Given the description of an element on the screen output the (x, y) to click on. 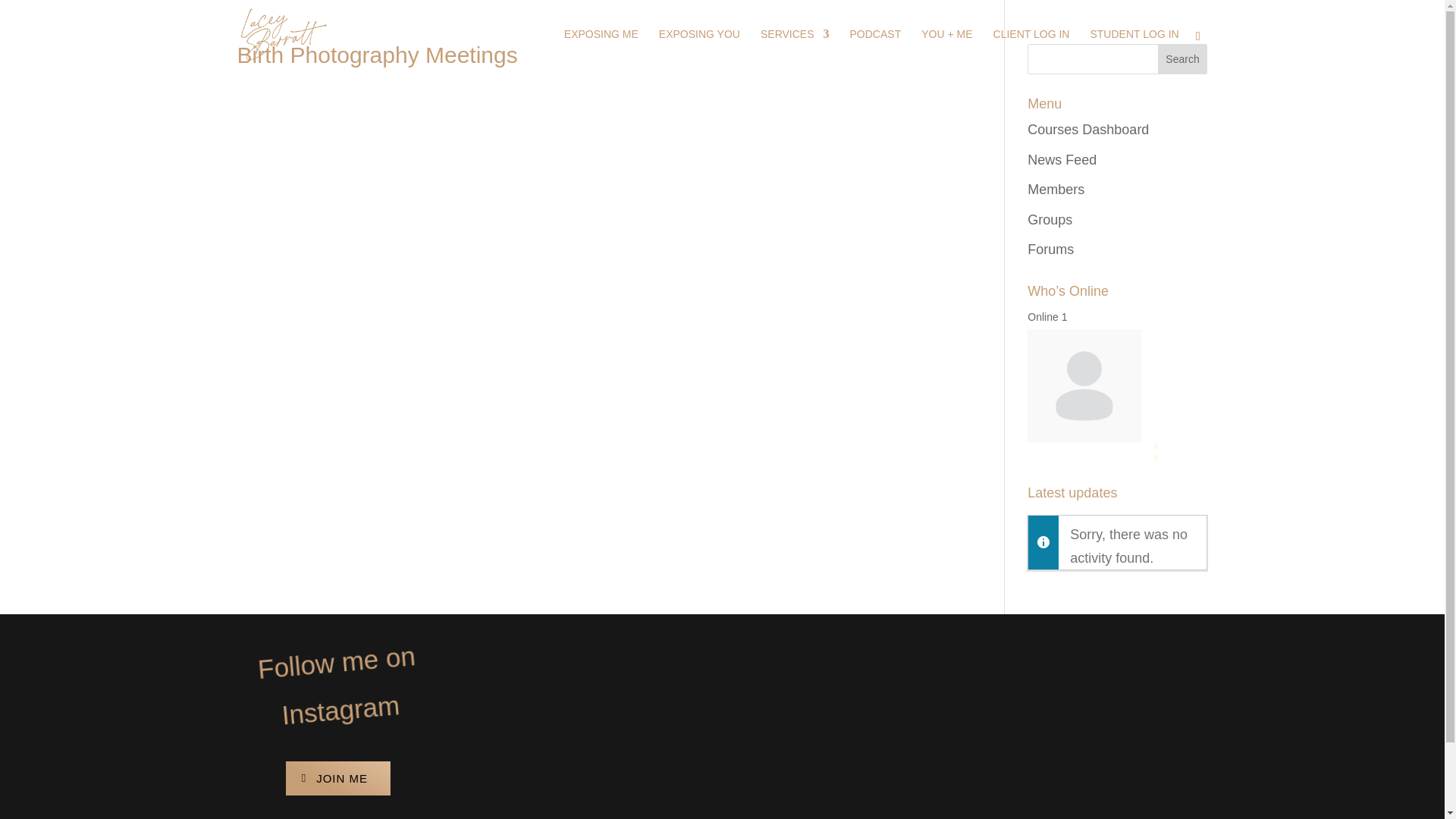
Courses Dashboard (1087, 129)
Search (1182, 59)
Members (1055, 189)
Search (1182, 59)
EXPOSING ME (601, 47)
Groups (1049, 219)
News Feed (1061, 159)
JOIN ME (337, 778)
PODCAST (875, 47)
EXPOSING YOU (699, 47)
Online 1 (1047, 316)
Forums (1050, 249)
SERVICES (794, 47)
STUDENT LOG IN (1133, 47)
CLIENT LOG IN (1031, 47)
